Given the description of an element on the screen output the (x, y) to click on. 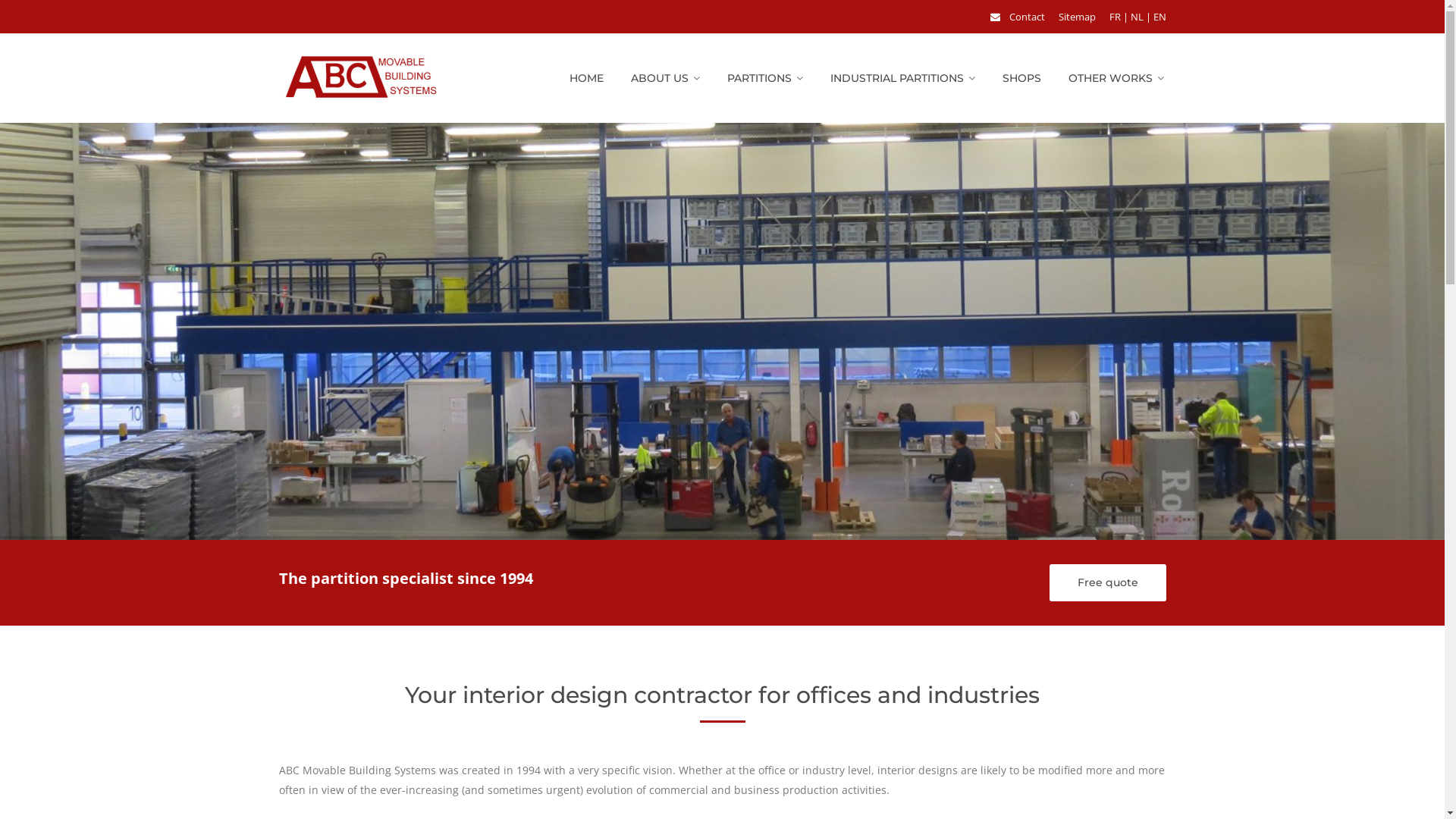
ABC MBS Element type: hover (360, 76)
Free quote Element type: text (1107, 582)
ABOUT US Element type: text (664, 78)
OTHER WORKS Element type: text (1115, 78)
EN Element type: text (1158, 16)
PARTITIONS Element type: text (764, 78)
INDUSTRIAL PARTITIONS Element type: text (901, 78)
NL Element type: text (1135, 16)
FR Element type: text (1114, 16)
SHOPS Element type: text (1021, 78)
HOME Element type: text (585, 78)
Sitemap Element type: text (1076, 16)
Contact Element type: text (1026, 16)
